Given the description of an element on the screen output the (x, y) to click on. 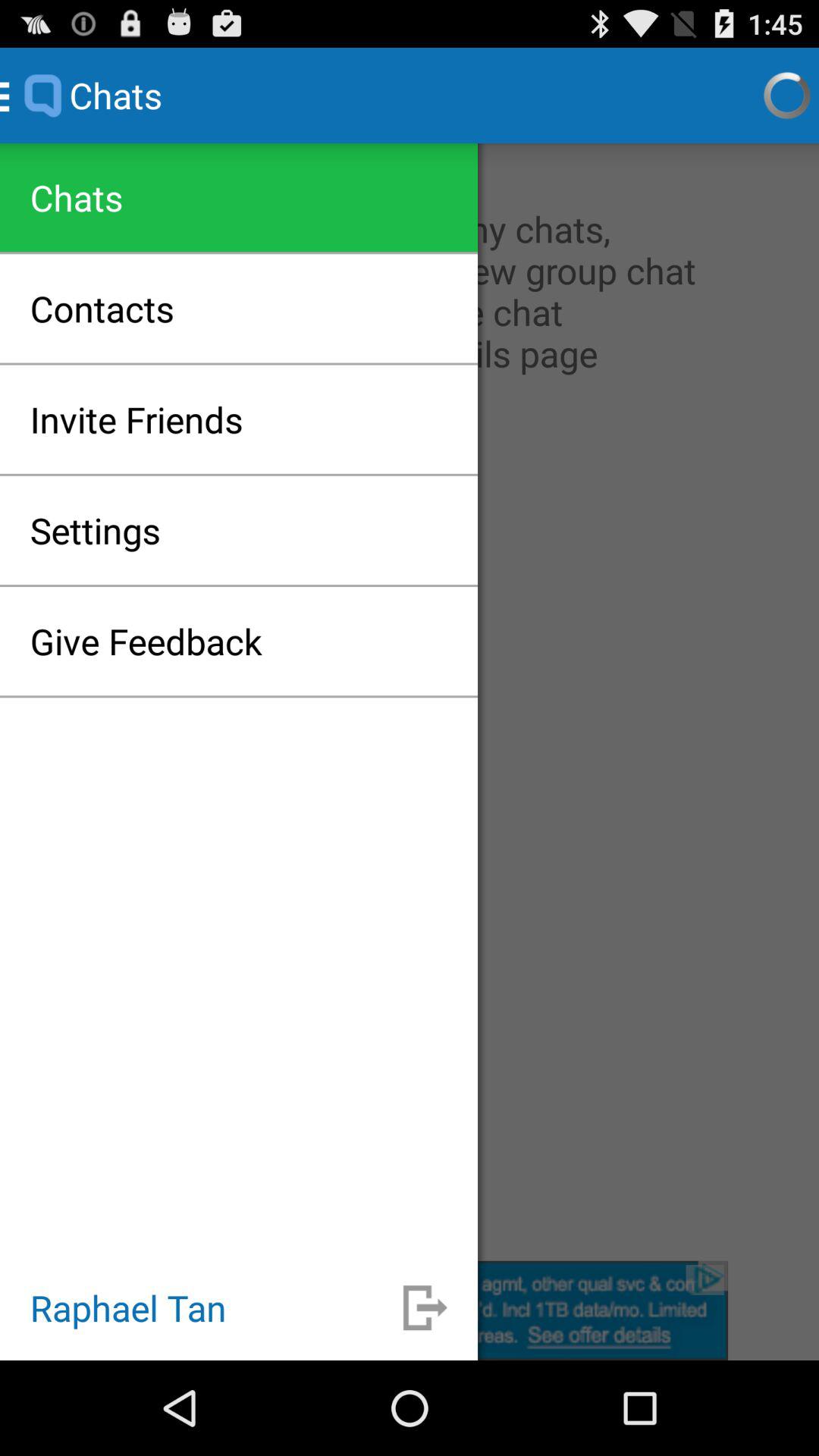
press give feedback app (146, 640)
